Given the description of an element on the screen output the (x, y) to click on. 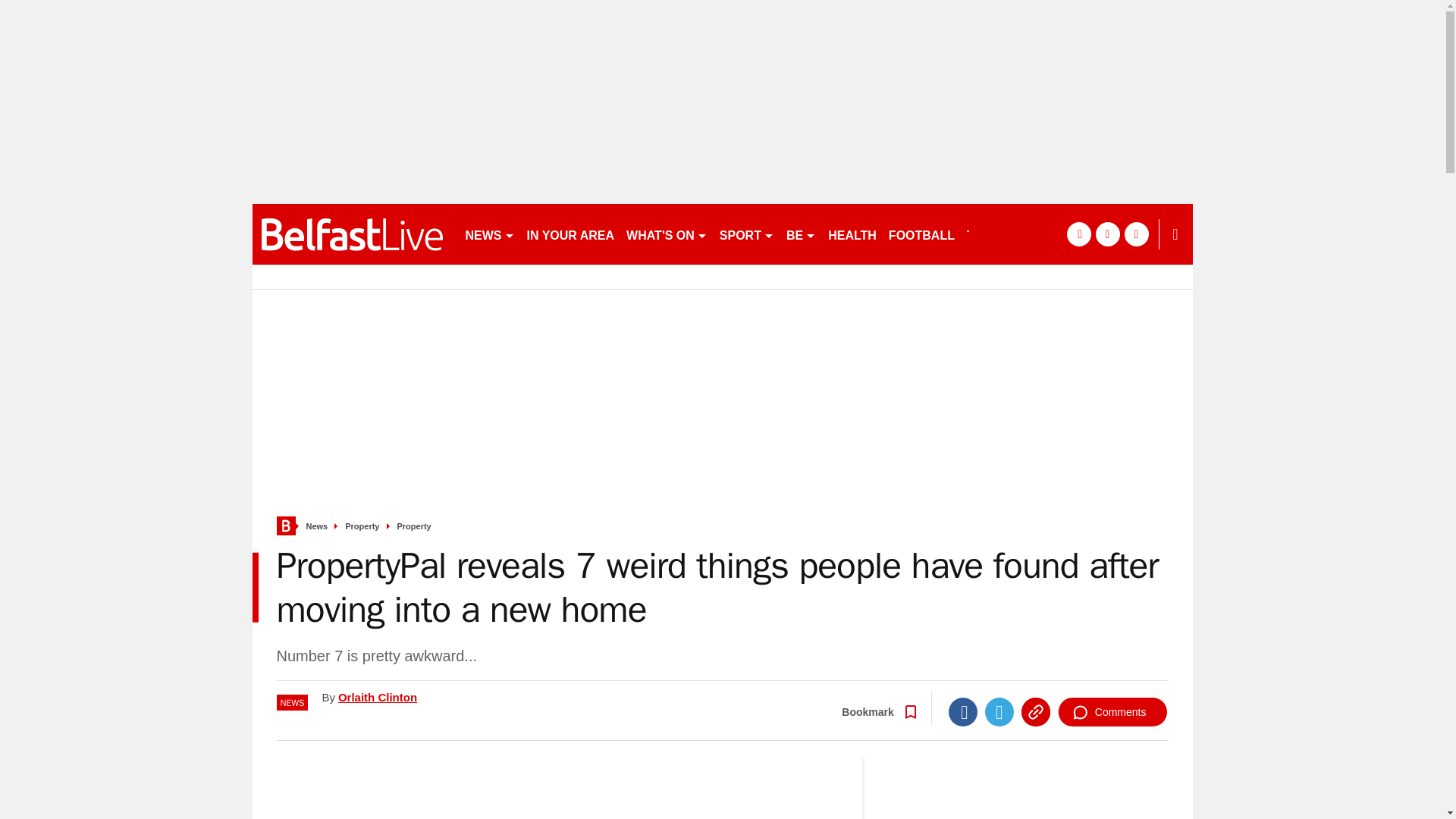
NEWS (490, 233)
Comments (1112, 711)
Facebook (962, 711)
WHAT'S ON (666, 233)
belfastlive (351, 233)
facebook (1077, 233)
twitter (1106, 233)
IN YOUR AREA (569, 233)
Twitter (999, 711)
instagram (1136, 233)
SPORT (746, 233)
